Given the description of an element on the screen output the (x, y) to click on. 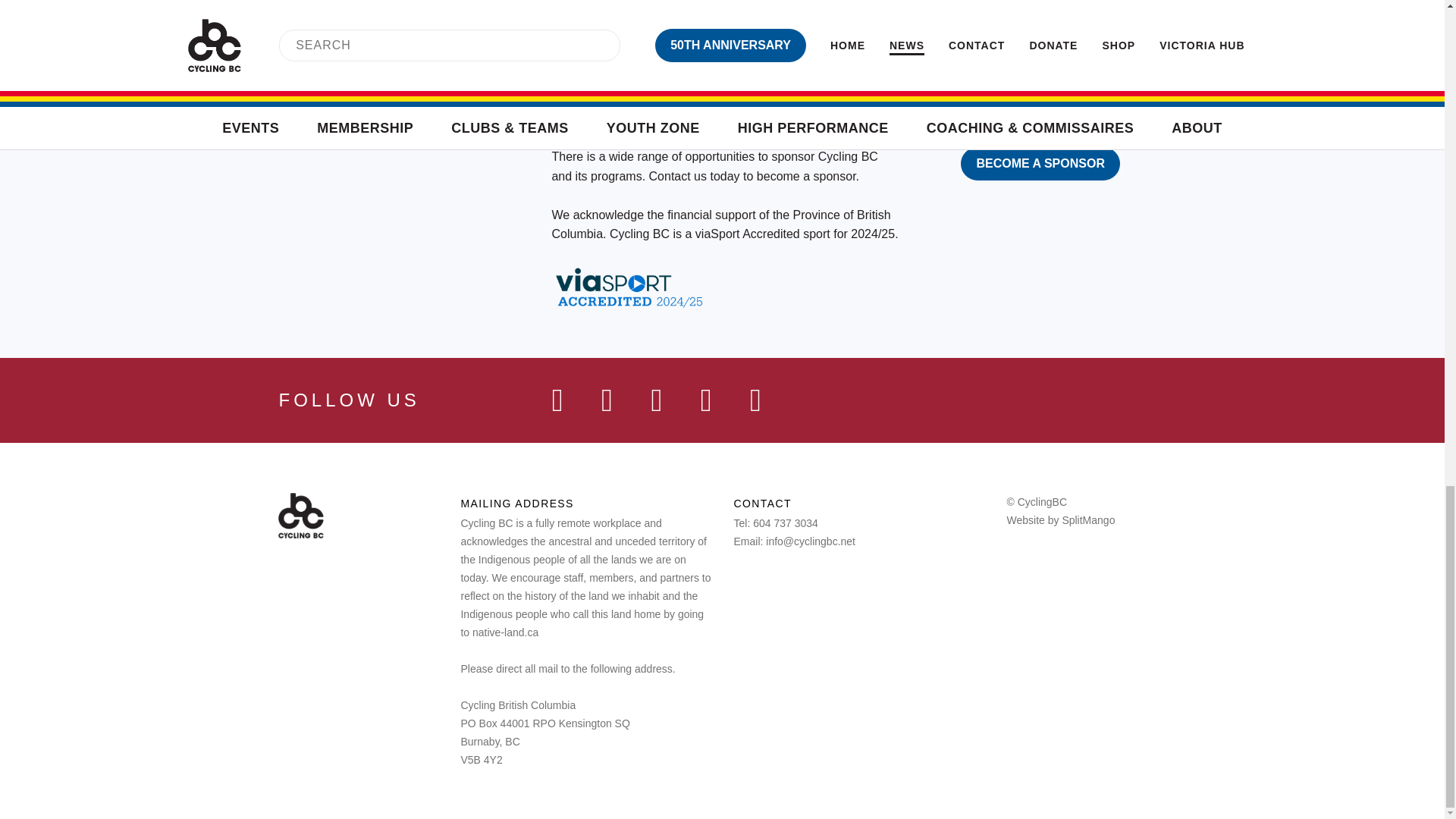
cbc-logo-2x (300, 515)
cycling-canada-logo-long (742, 71)
Interpodia logo (1037, 7)
jakroo-logo (759, 3)
Gallagher-Logo (898, 9)
bc-logo (836, 71)
BCCC-short-logo-2020-web (947, 71)
logo-viasport-min (609, 71)
